Given the description of an element on the screen output the (x, y) to click on. 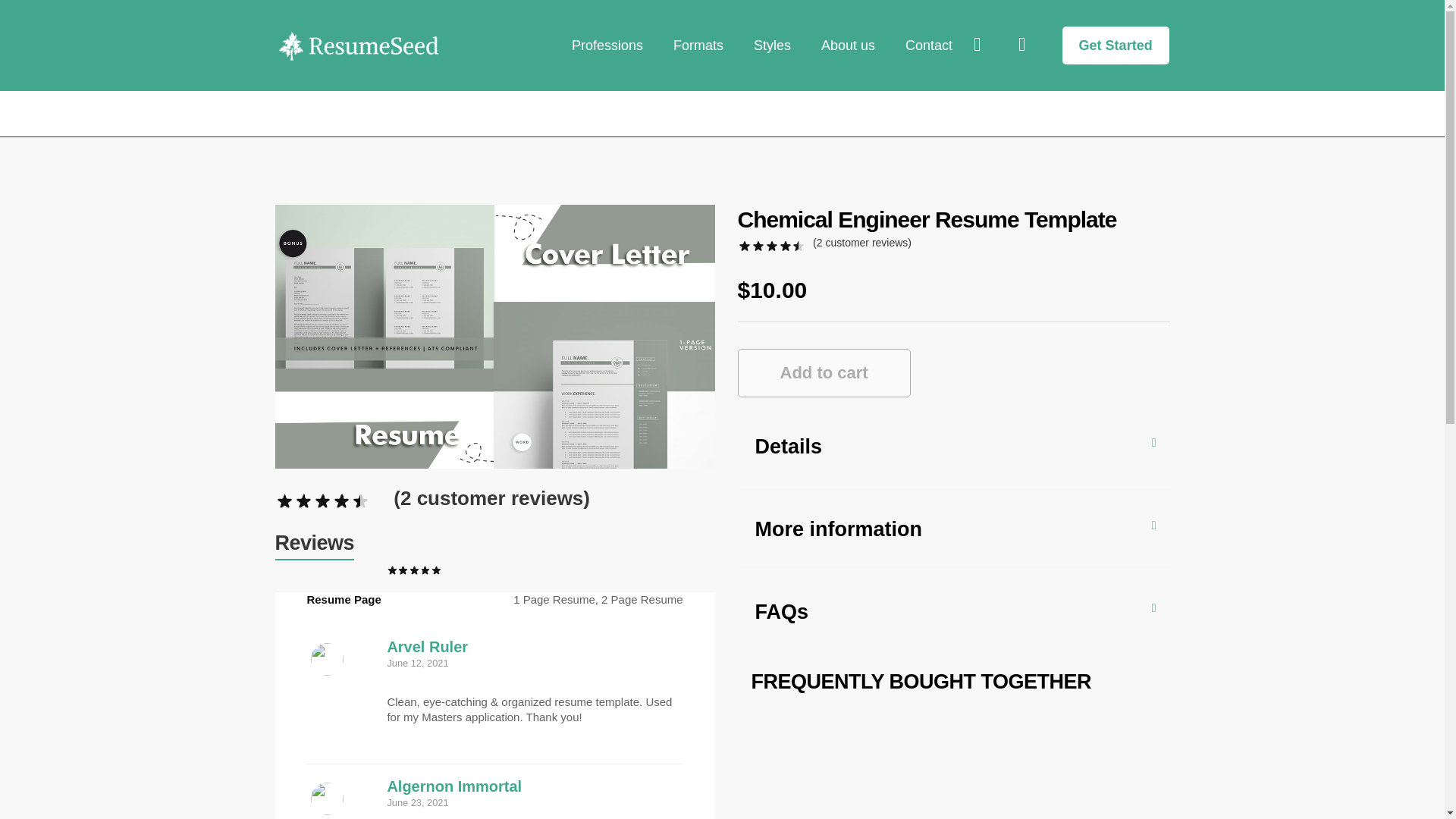
Professions (607, 45)
Styles (772, 45)
About us (848, 45)
08-Bundle (494, 336)
Formats (697, 45)
Contact (928, 45)
